Given the description of an element on the screen output the (x, y) to click on. 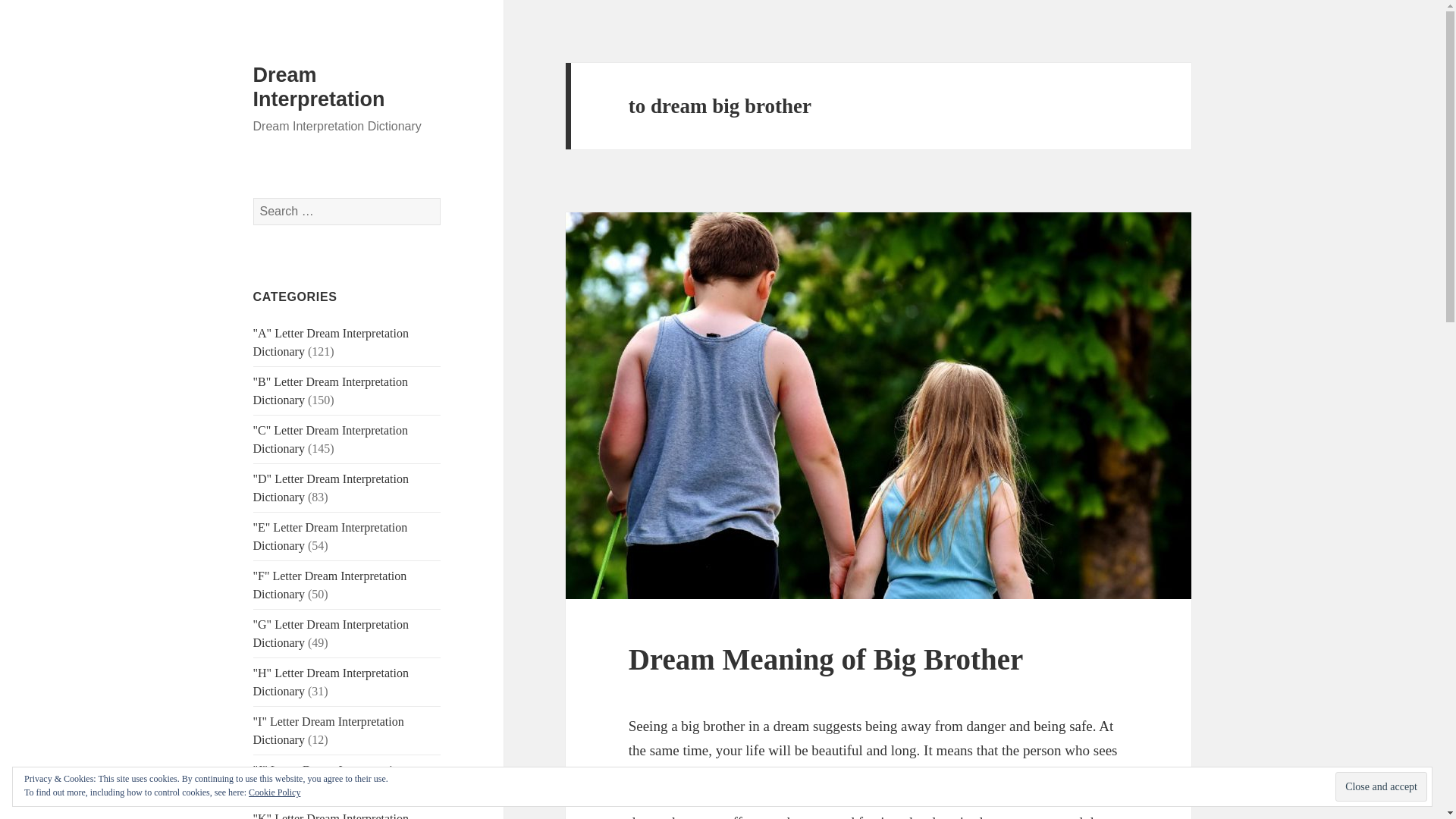
"A" Letter Dream Interpretation Dictionary (331, 341)
"H" Letter Dream Interpretation Dictionary (331, 681)
Dream Meaning of Big Brother (825, 658)
"C" Letter Dream Interpretation Dictionary (331, 439)
"F" Letter Dream Interpretation Dictionary (330, 584)
Cookie Policy (273, 792)
Close and accept (1380, 786)
"J" Letter Dream Interpretation Dictionary (328, 778)
"I" Letter Dream Interpretation Dictionary (328, 730)
"B" Letter Dream Interpretation Dictionary (331, 390)
"E" Letter Dream Interpretation Dictionary (330, 536)
Close and accept (1380, 786)
